Given the description of an element on the screen output the (x, y) to click on. 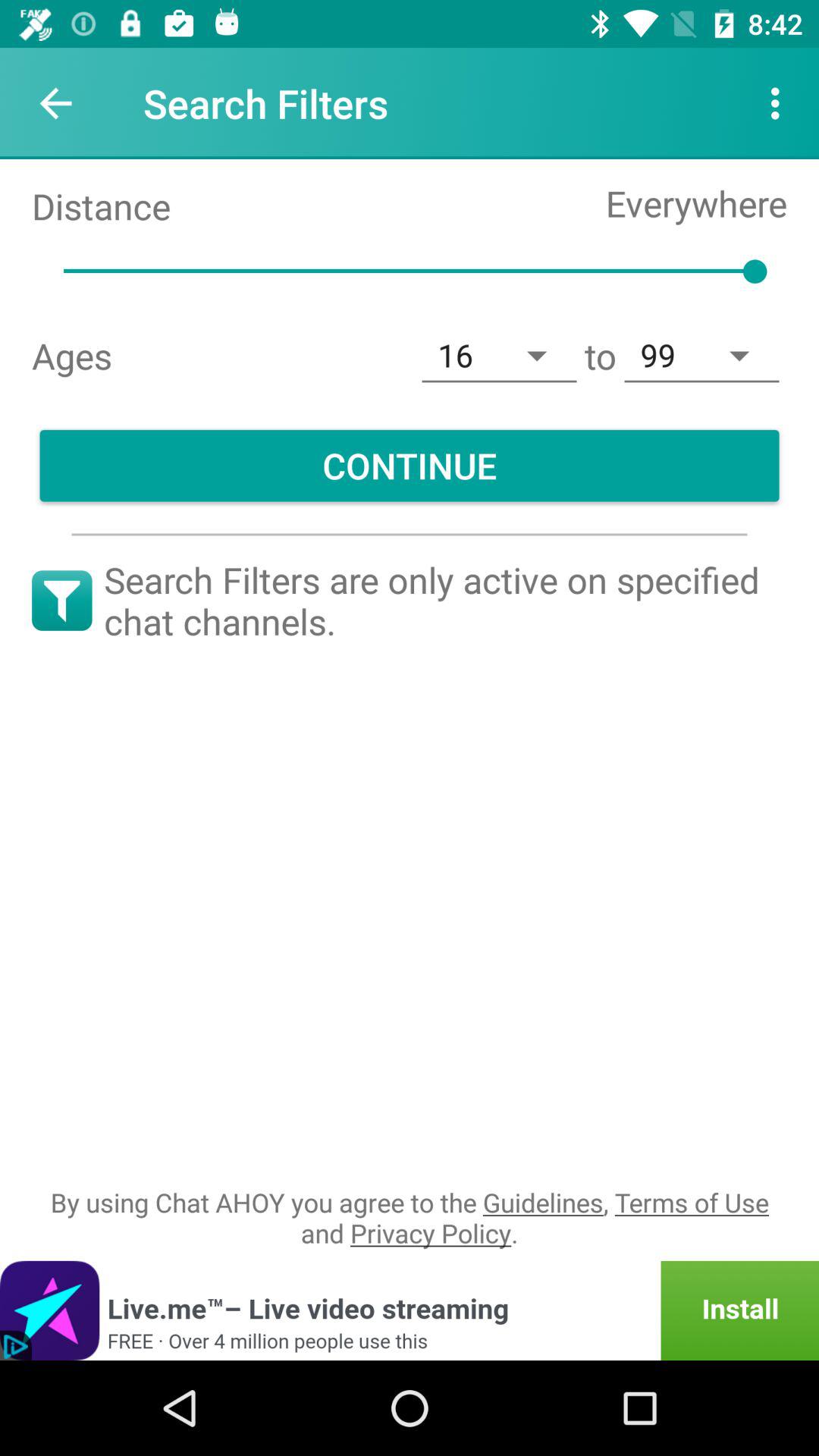
choose the icon to the right of the search filters (779, 103)
